Given the description of an element on the screen output the (x, y) to click on. 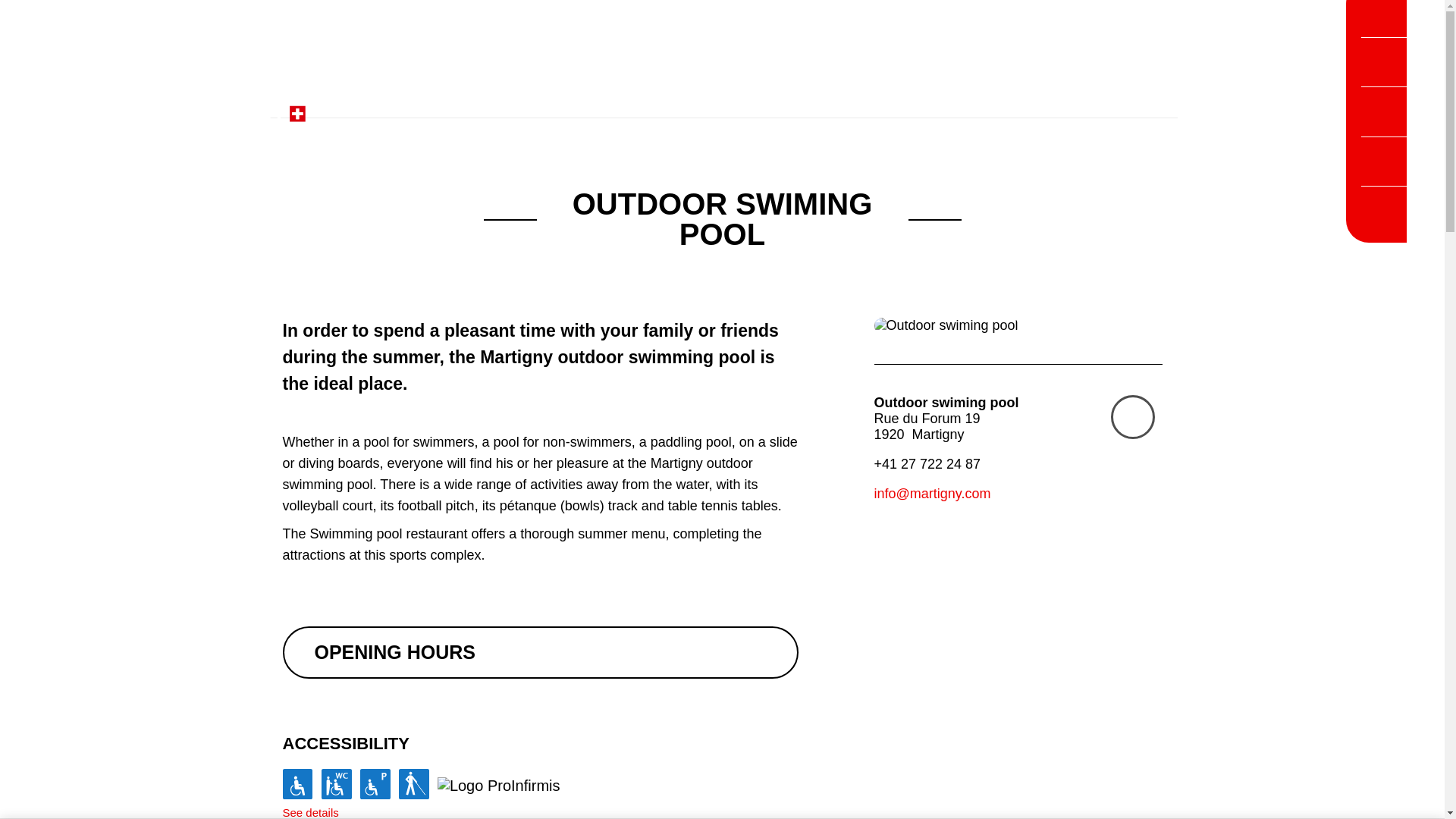
MENU (1258, 107)
to the city administration website (611, 105)
DE (1057, 106)
Toilets partially wheelchair-accessible (336, 784)
Primary Menu (1258, 107)
Wheelchair-accessible (297, 784)
Search (857, 106)
EN (1086, 106)
OTHERS (1130, 106)
Search (857, 106)
